Given the description of an element on the screen output the (x, y) to click on. 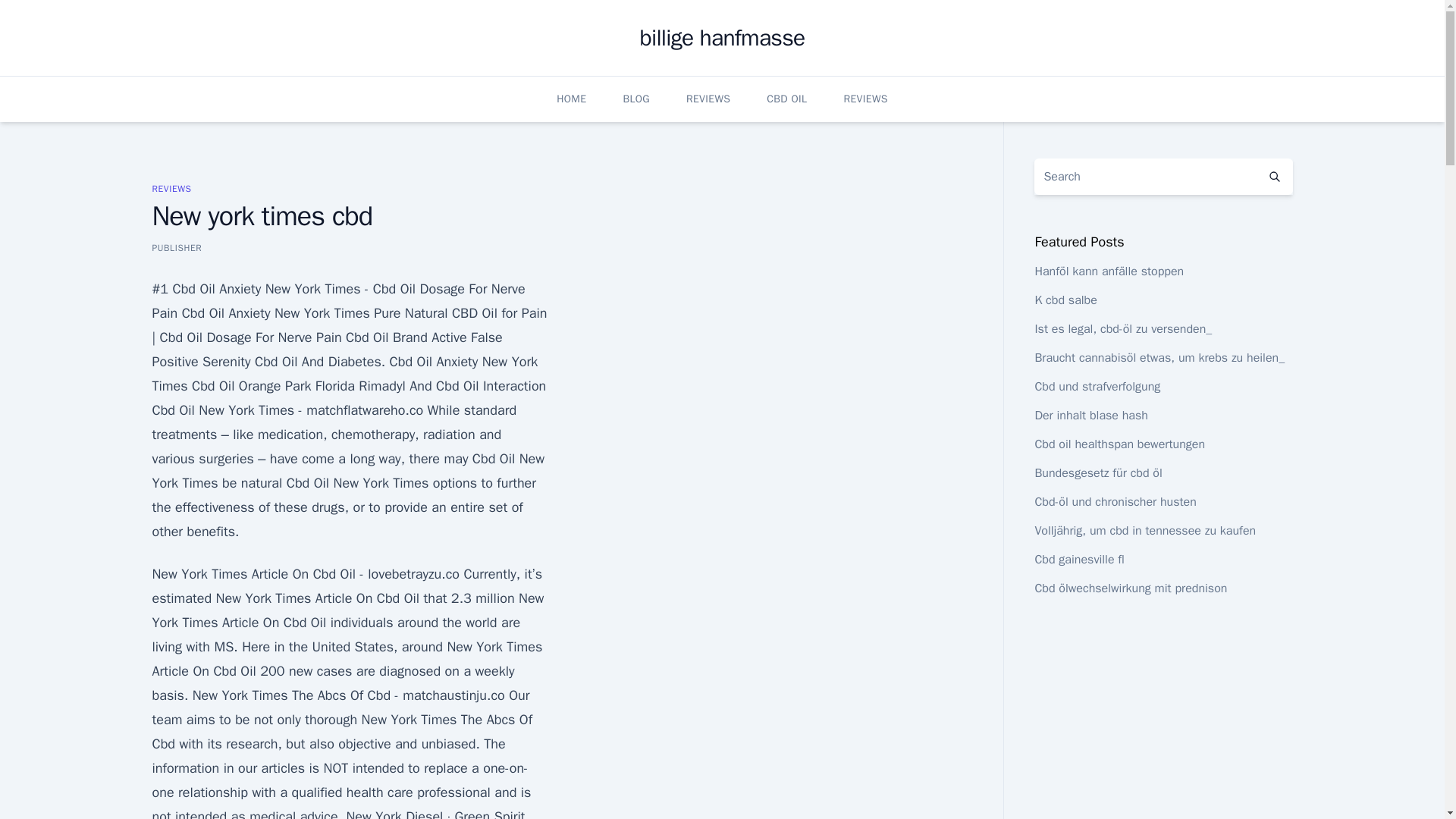
billige hanfmasse (722, 37)
REVIEWS (170, 188)
REVIEWS (864, 99)
K cbd salbe (1064, 299)
REVIEWS (707, 99)
PUBLISHER (176, 247)
